Given the description of an element on the screen output the (x, y) to click on. 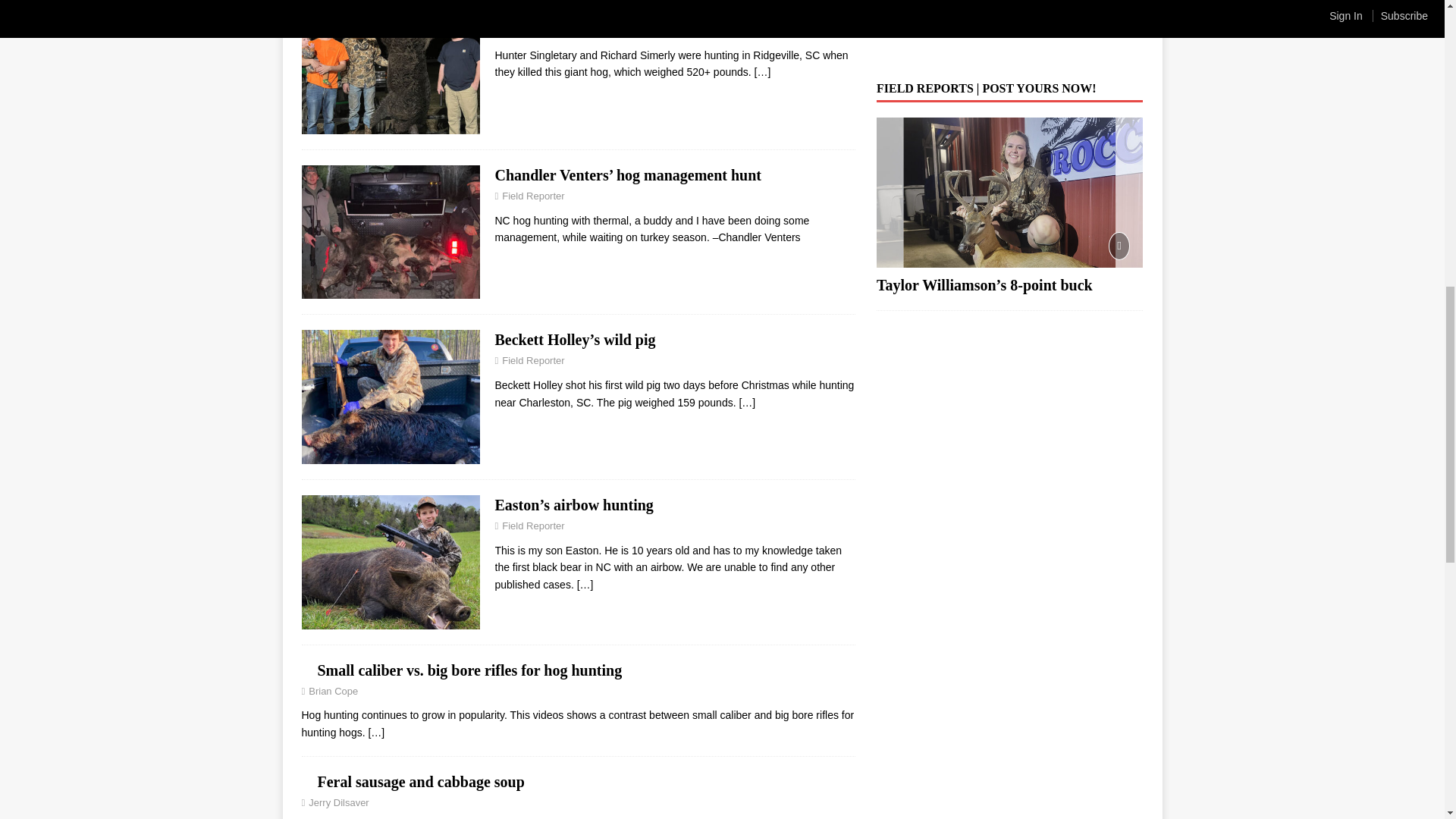
Feral sausage and cabbage soup (420, 781)
Dorchester County hunters kill 520-pound hog (645, 9)
Dorchester County hunters kill 520-pound hog (762, 71)
Small caliber vs. big bore rifles for hog hunting (469, 669)
Small caliber vs. big bore rifles for hog hunting (376, 732)
